Given the description of an element on the screen output the (x, y) to click on. 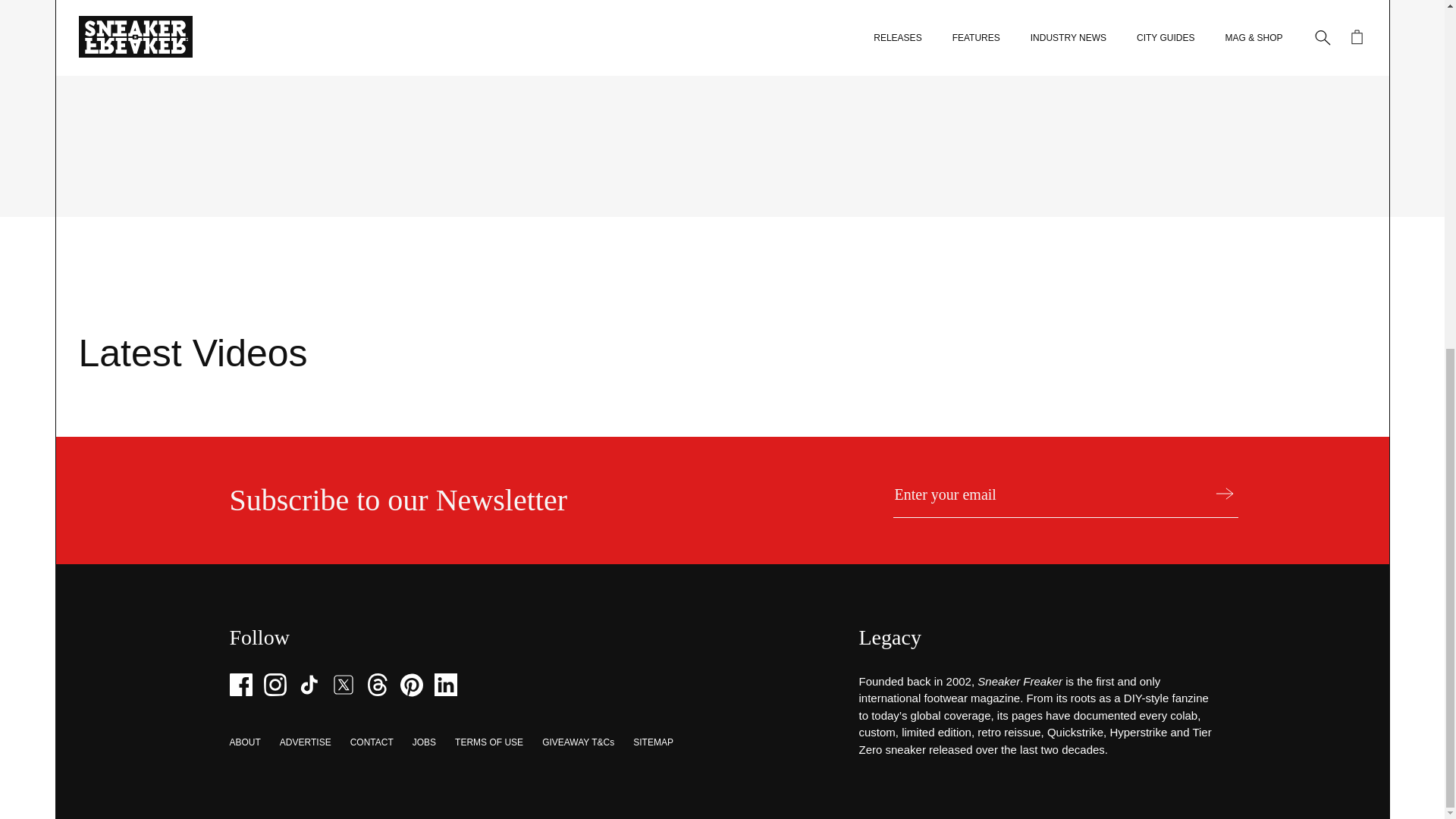
SITEMAP (652, 742)
JOBS (423, 742)
ABOUT (244, 742)
JOHN MAYER (387, 70)
TERMS OF USE (488, 742)
NEW BALANCE (312, 70)
INDUSTRY NEWS (228, 70)
CONTACT (371, 742)
ADVERTISE (305, 742)
